Given the description of an element on the screen output the (x, y) to click on. 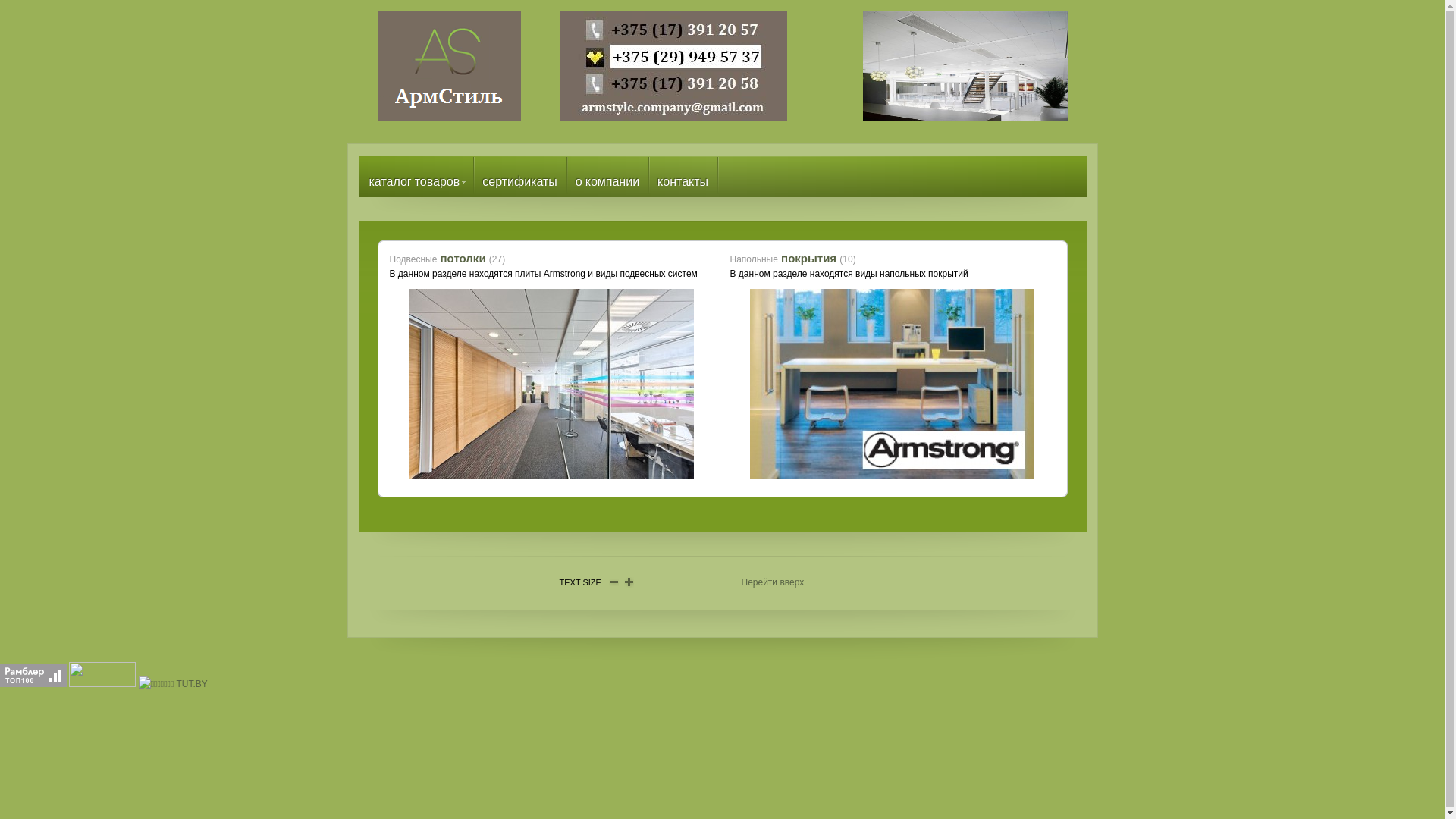
Rambler's Top100 Element type: hover (33, 675)
